Given the description of an element on the screen output the (x, y) to click on. 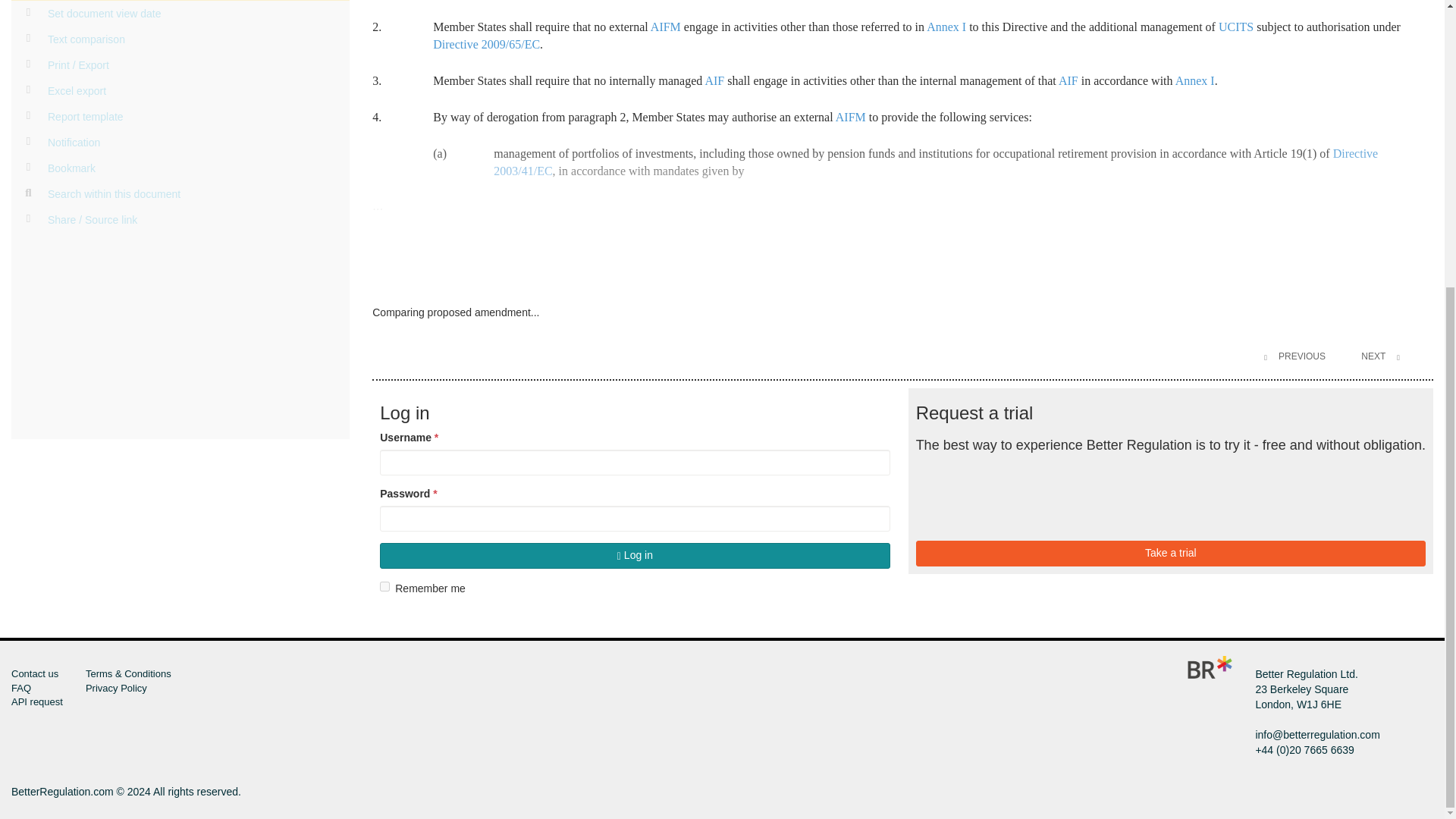
1 (385, 586)
